Given the description of an element on the screen output the (x, y) to click on. 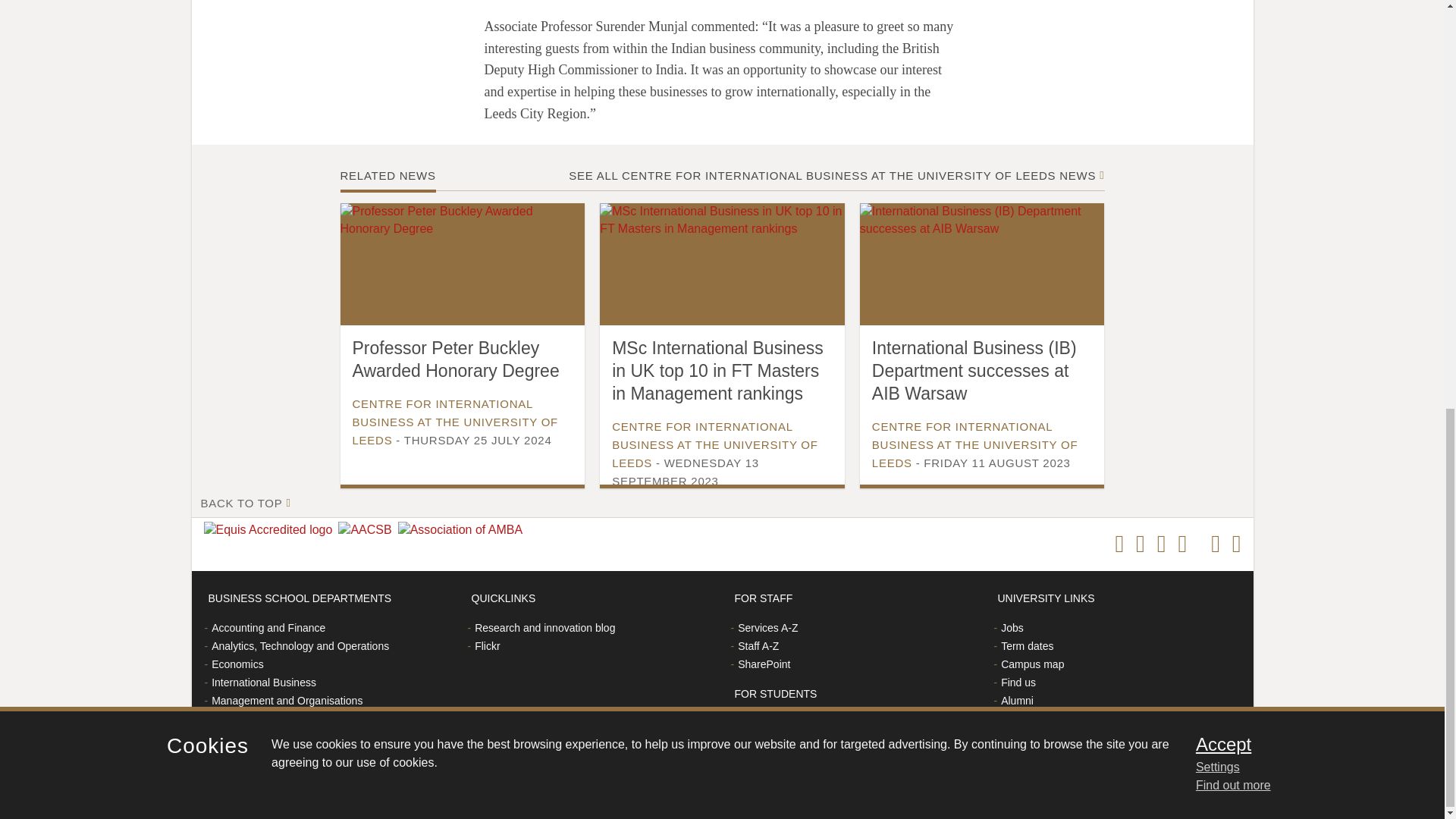
Visit 2-AACSB (367, 529)
Visit 3-AMBA (463, 529)
Visit 1-EFMD (270, 529)
